Given the description of an element on the screen output the (x, y) to click on. 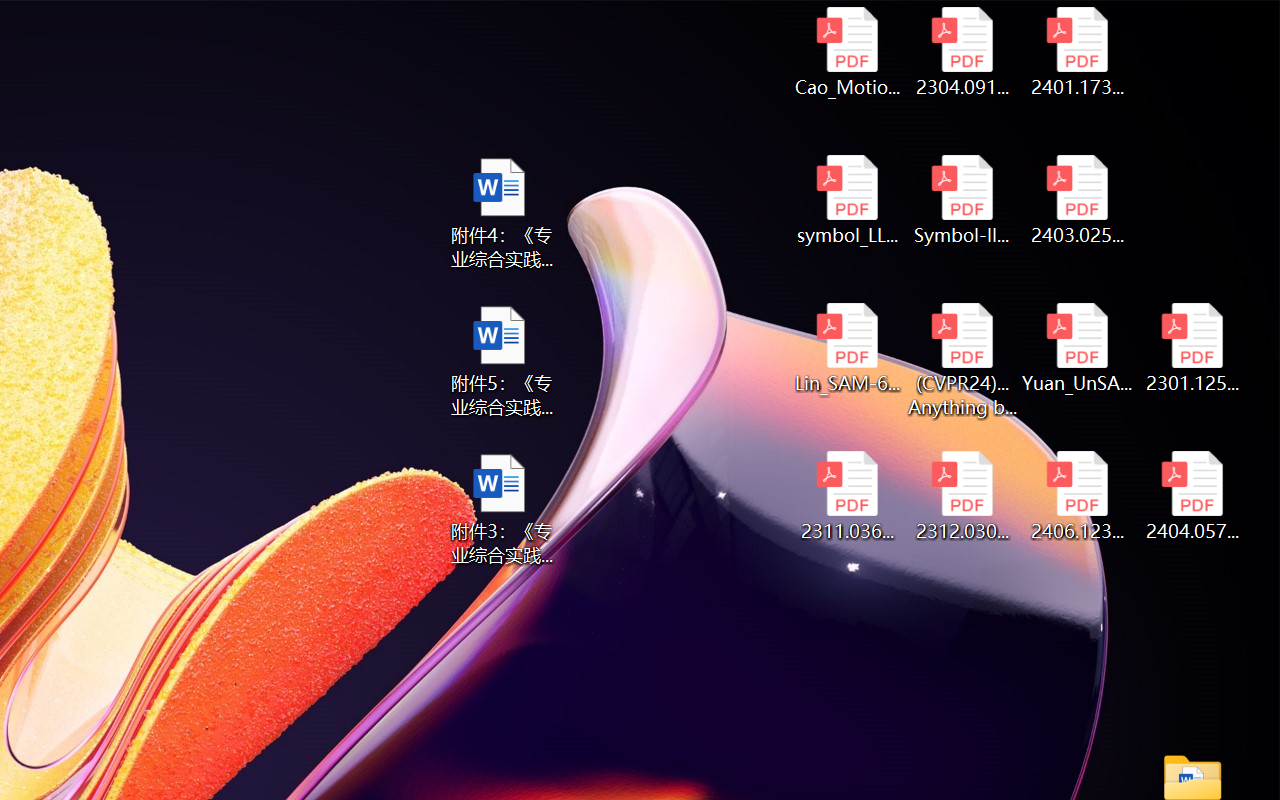
8 Ball Pool - Apps on Google Play (1018, 22)
Sign in - Google Accounts (465, 22)
New Tab (859, 22)
